Given the description of an element on the screen output the (x, y) to click on. 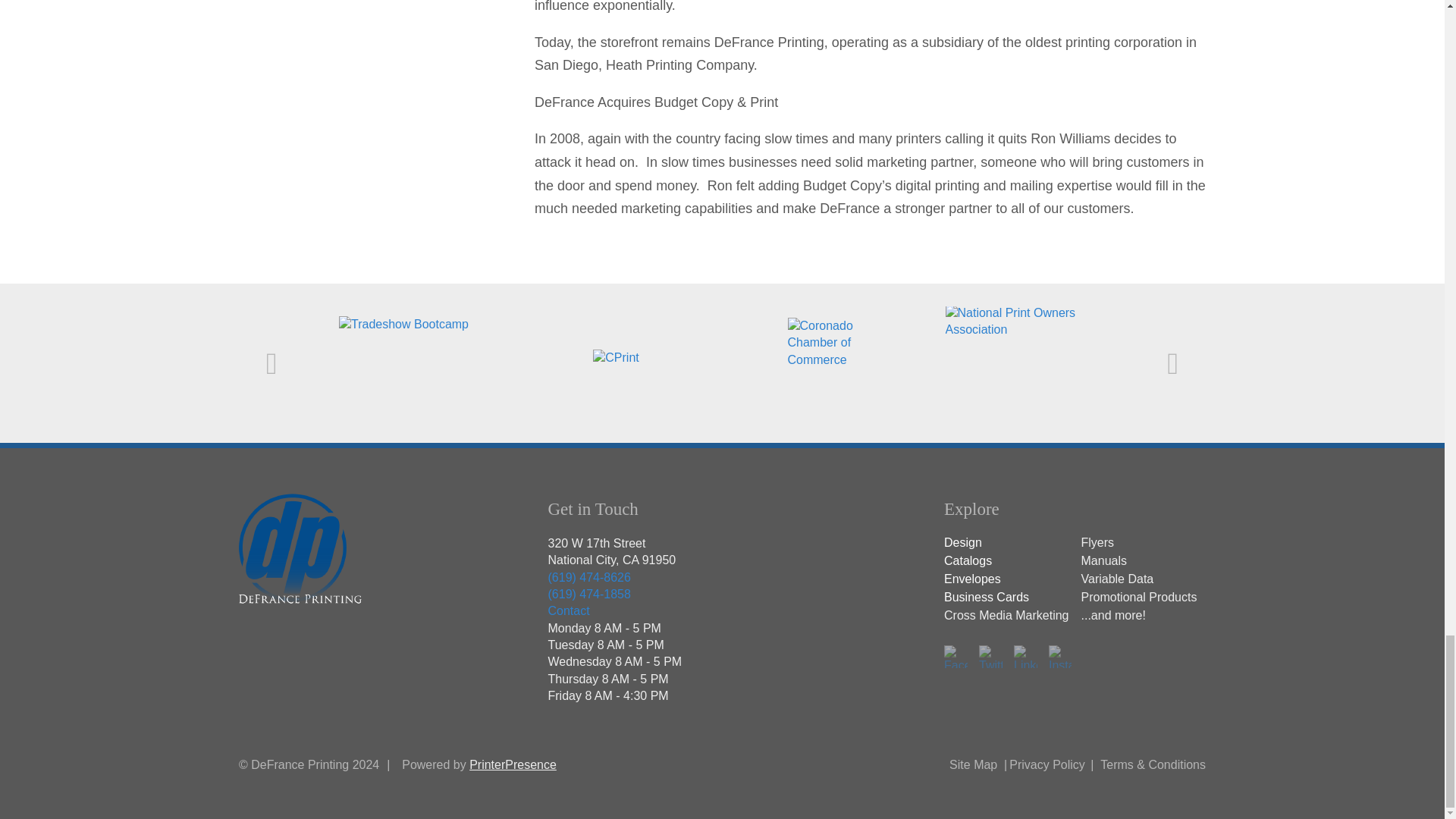
logo (301, 556)
